Given the description of an element on the screen output the (x, y) to click on. 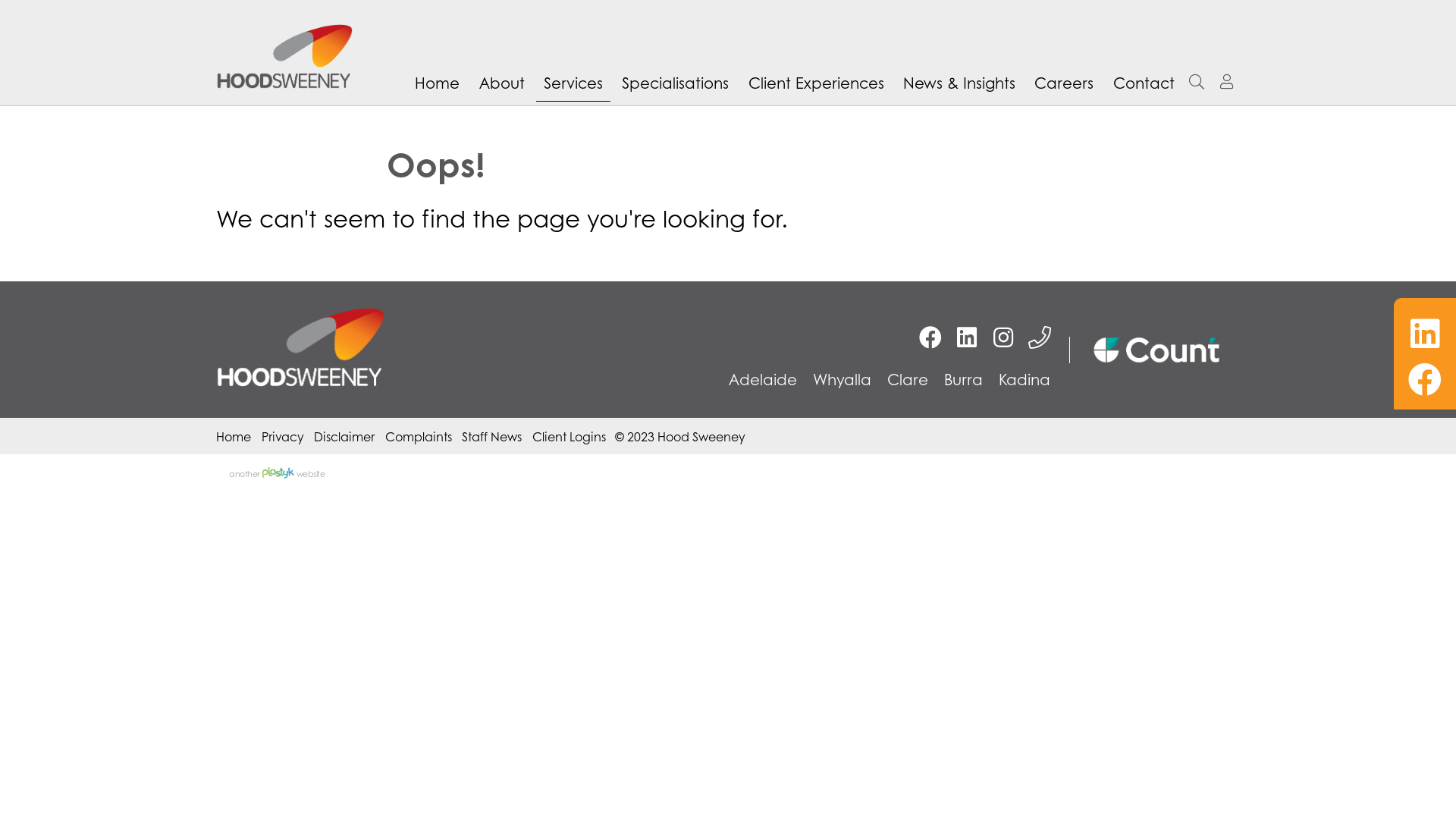
Staff News Element type: text (491, 436)
Complaints Element type: text (418, 436)
Privacy Element type: text (281, 436)
Disclaimer Element type: text (343, 436)
Clare Element type: text (907, 379)
About Element type: text (500, 82)
Services Element type: text (573, 82)
Follow us on Linkedin Element type: text (966, 336)
Home Element type: text (437, 82)
Burra Element type: text (962, 379)
Kadina Element type: text (1023, 379)
Careers Element type: text (1063, 82)
Specialisations Element type: text (675, 82)
Whyalla Element type: text (841, 379)
News & Insights Element type: text (958, 82)
Contact Element type: text (1143, 82)
Follow us on Instagram Element type: text (1002, 336)
another
website Element type: text (276, 473)
Follow us on Facebook Element type: text (930, 336)
Call us at 1300 764 200 Element type: text (1039, 336)
Client Logins Element type: text (568, 436)
Home Element type: text (233, 436)
Client Experiences Element type: text (815, 82)
Adelaide Element type: text (762, 379)
